Given the description of an element on the screen output the (x, y) to click on. 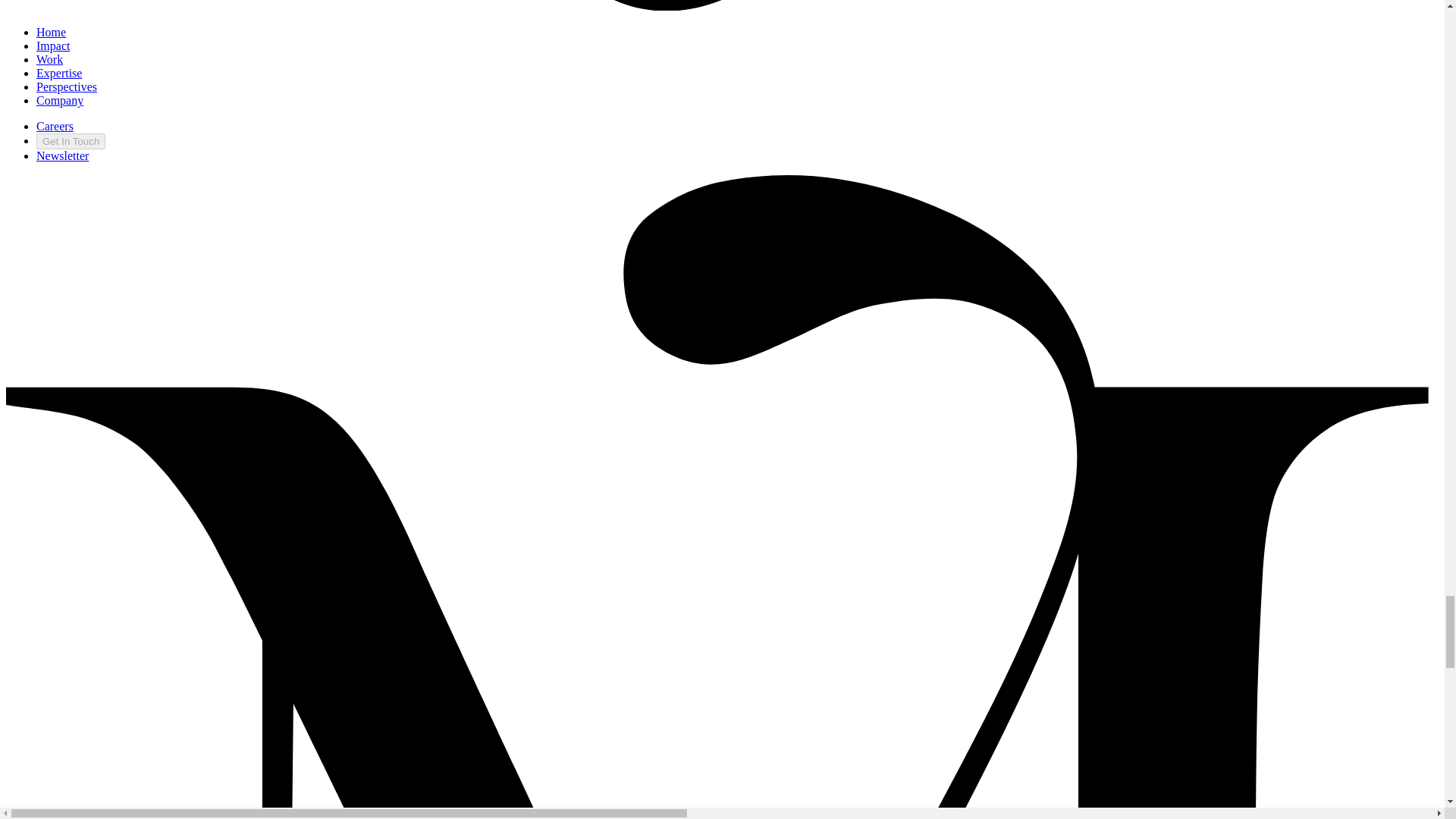
Get In Touch (70, 141)
Company (59, 100)
Impact (49, 59)
Newsletter (52, 45)
Home (62, 155)
Perspectives (50, 31)
Careers (66, 86)
